Given the description of an element on the screen output the (x, y) to click on. 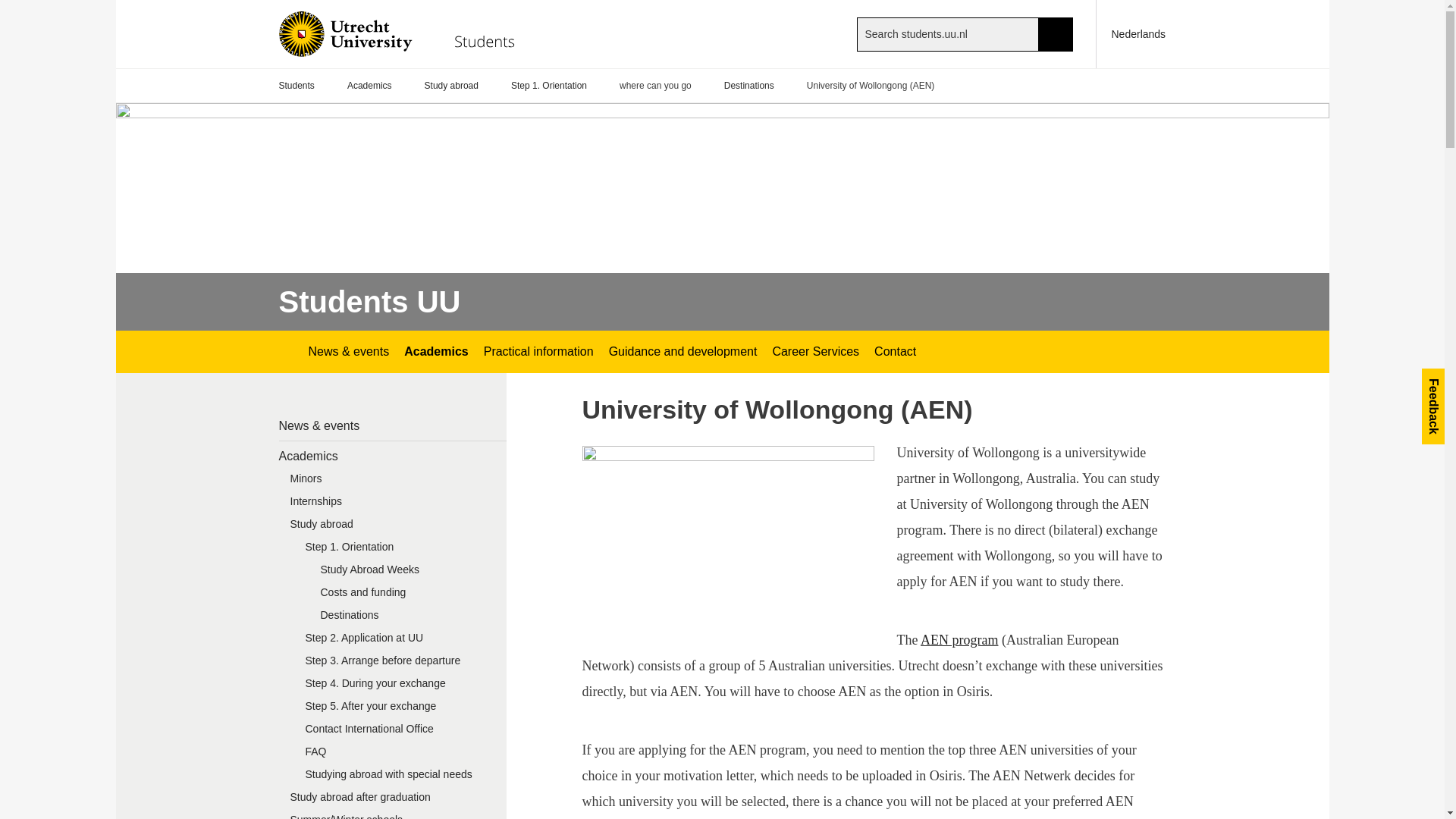
Students UU (370, 301)
Academics (436, 351)
Destinations (748, 85)
SEARCH (1056, 33)
Study abroad (452, 85)
Academics (369, 85)
Skip to main content (7, 7)
Home (408, 33)
Nederlands (1131, 33)
Students (296, 85)
Step 1. Orientation (548, 85)
